Given the description of an element on the screen output the (x, y) to click on. 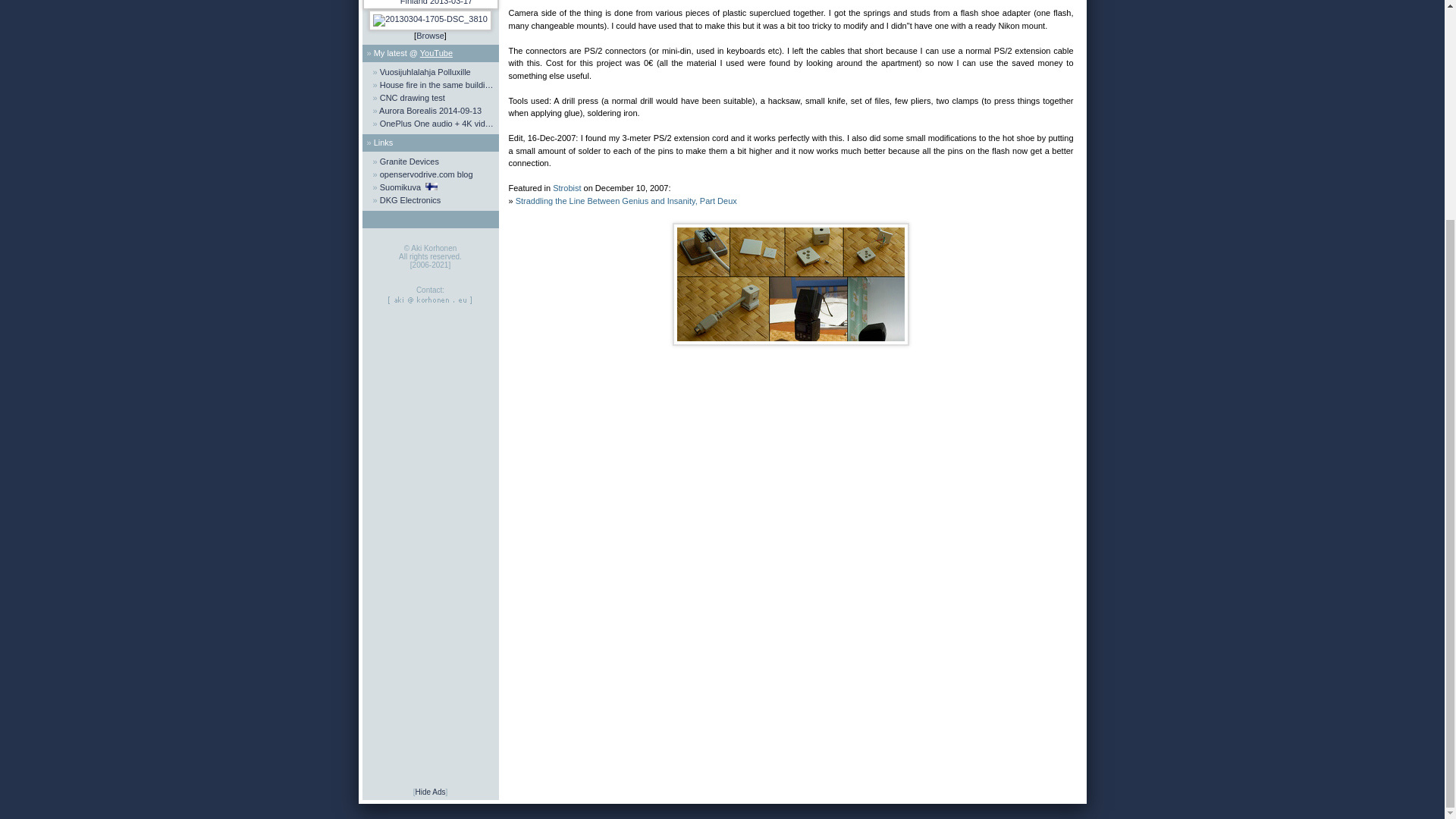
Aurora Borealis 2014-09-13 (430, 110)
Browse (430, 35)
Strobist (566, 187)
CNC drawing test (430, 97)
Vuosijuhlalahja Polluxille (430, 72)
Straddling the Line Between Genius and Insanity, Part Deux (625, 199)
Hide Ads (429, 791)
YouTube (436, 52)
Aurora Borealis - Tampere, Finland 2013-03-17 (430, 4)
House fire in the same building (430, 84)
